Given the description of an element on the screen output the (x, y) to click on. 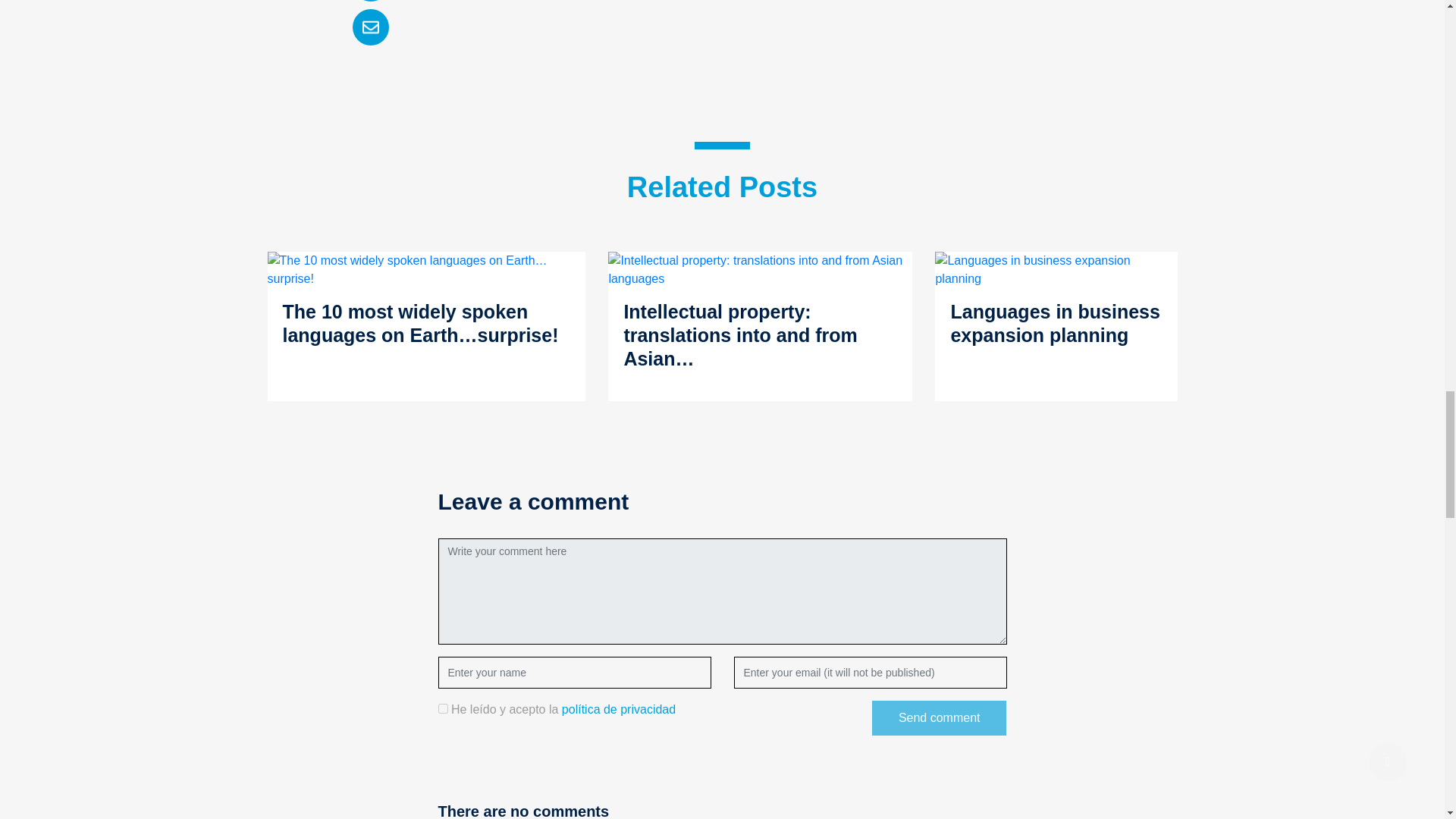
Languages in business expansion planning (1055, 269)
on (443, 708)
